Given the description of an element on the screen output the (x, y) to click on. 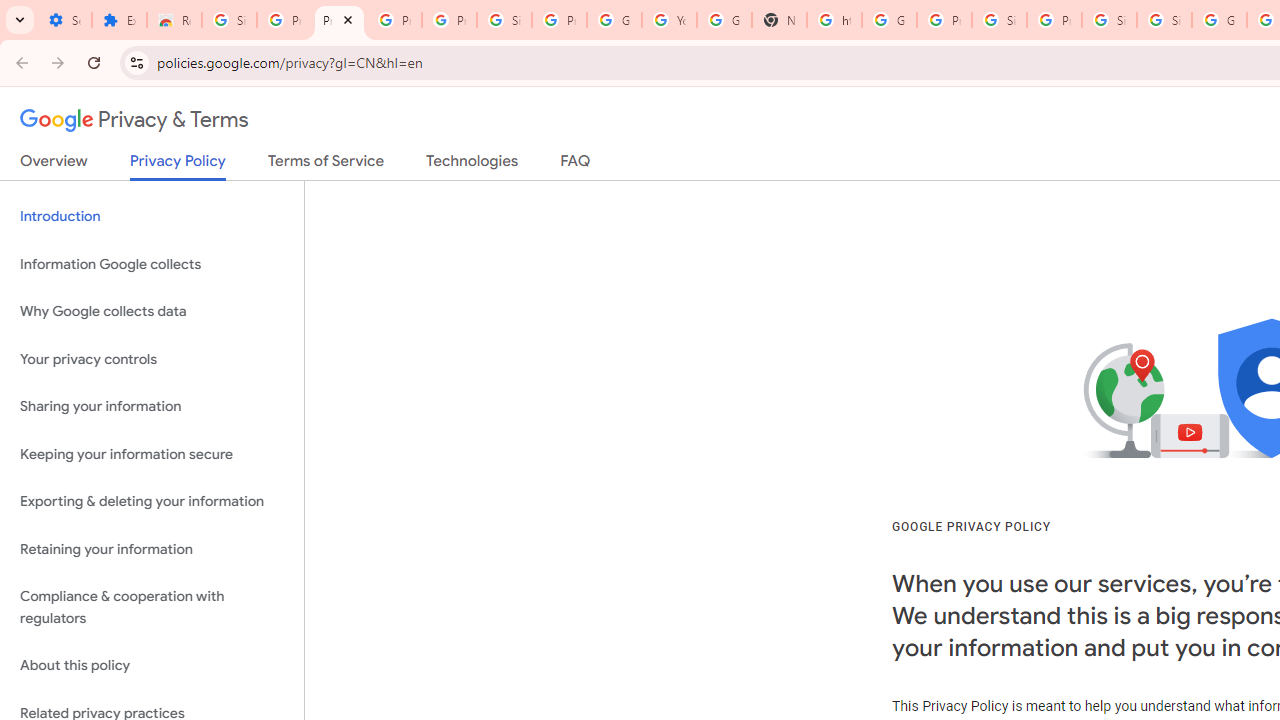
Sign in - Google Accounts (1163, 20)
Why Google collects data (152, 312)
Sign in - Google Accounts (998, 20)
About this policy (152, 666)
Google Account (614, 20)
Sharing your information (152, 407)
YouTube (669, 20)
